Given the description of an element on the screen output the (x, y) to click on. 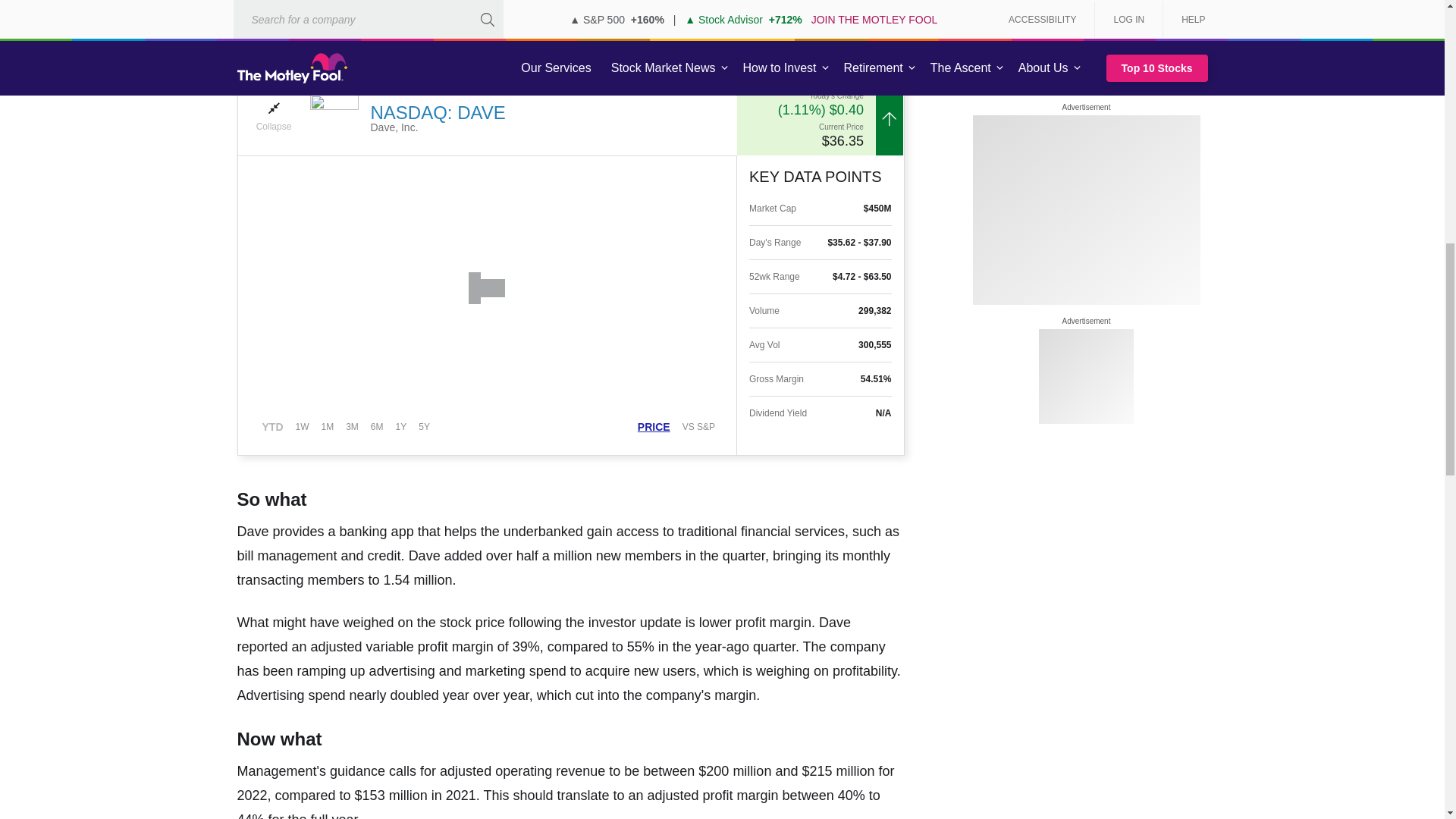
Arrows-In (273, 108)
